Given the description of an element on the screen output the (x, y) to click on. 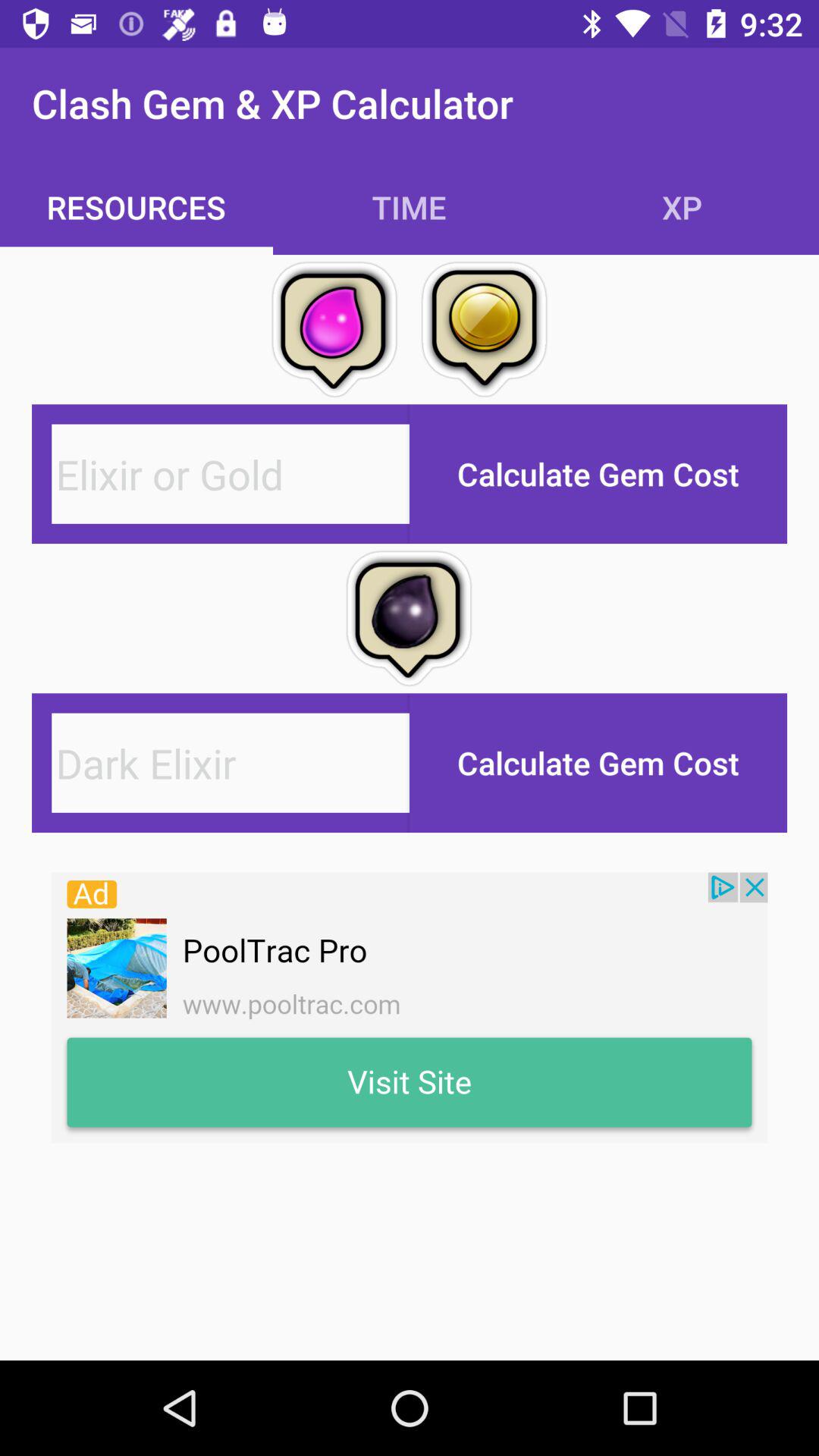
dark elixir (230, 762)
